Given the description of an element on the screen output the (x, y) to click on. 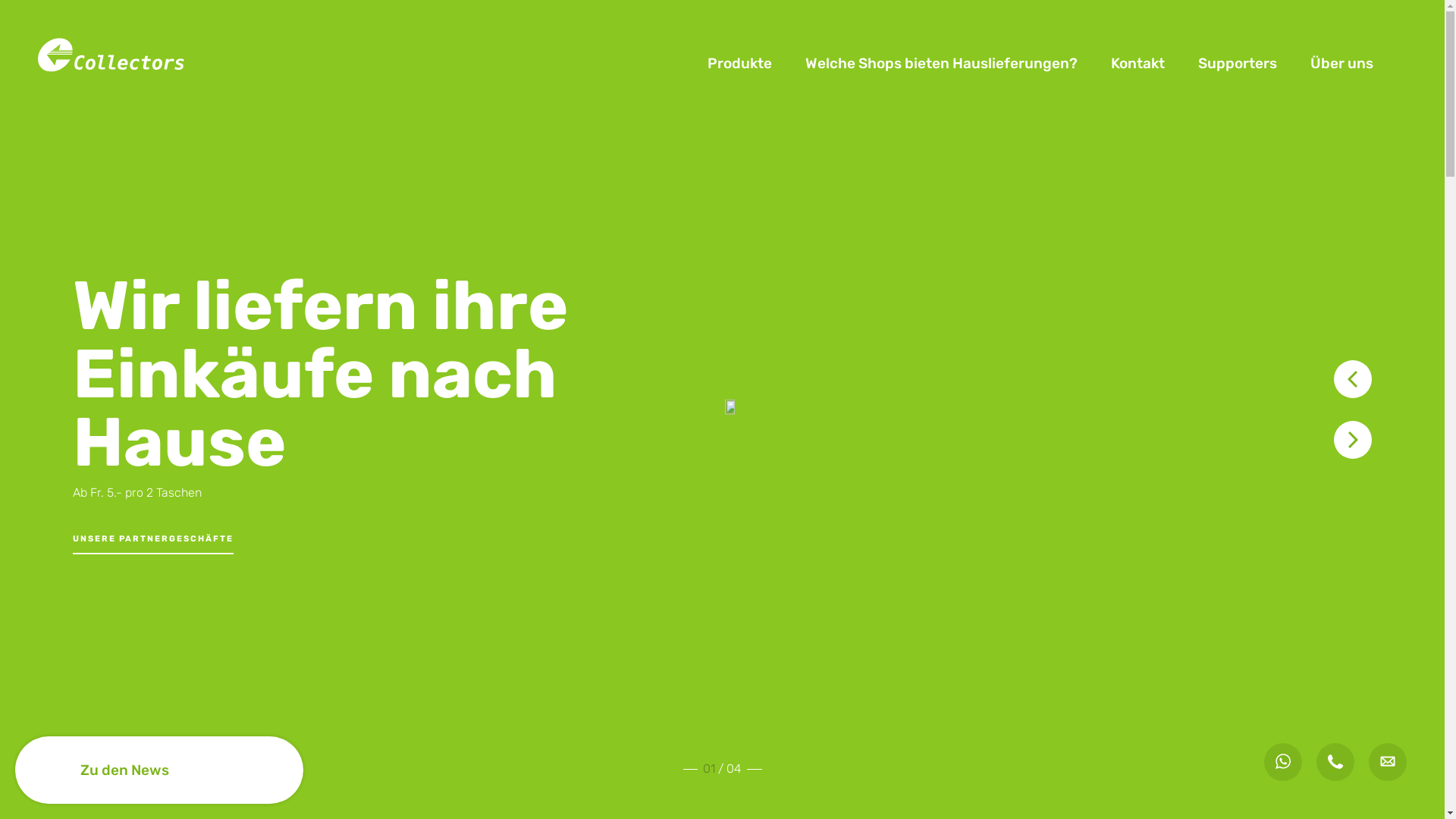
Kontakt Element type: text (1137, 64)
Supporters Element type: text (1237, 64)
Produkte Element type: text (739, 64)
Welche Shops bieten Hauslieferungen? Element type: text (941, 64)
Vorherige Folie Element type: text (1352, 379)
Startseite Element type: text (113, 62)
